Given the description of an element on the screen output the (x, y) to click on. 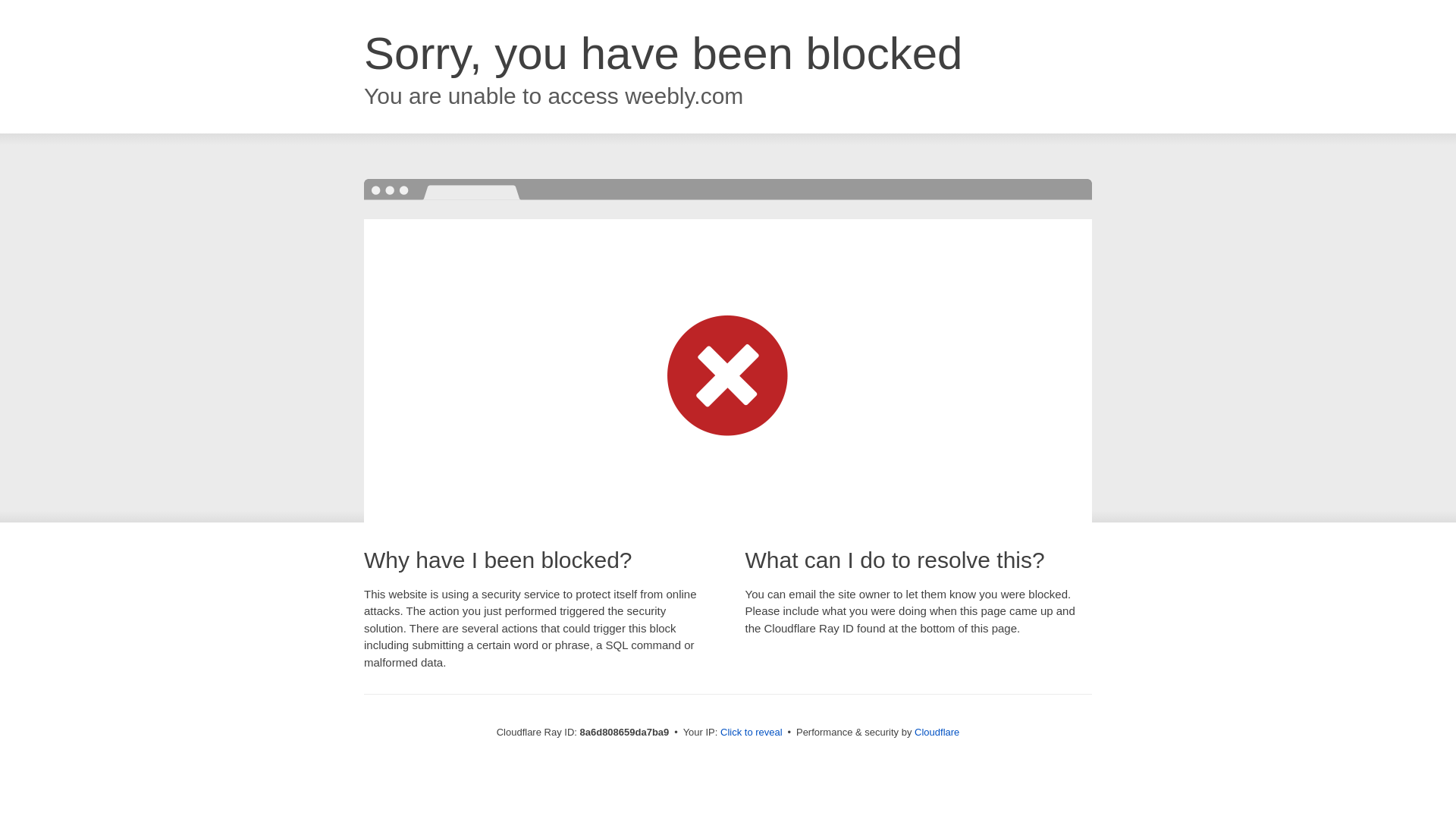
Cloudflare (936, 731)
Click to reveal (751, 732)
